Given the description of an element on the screen output the (x, y) to click on. 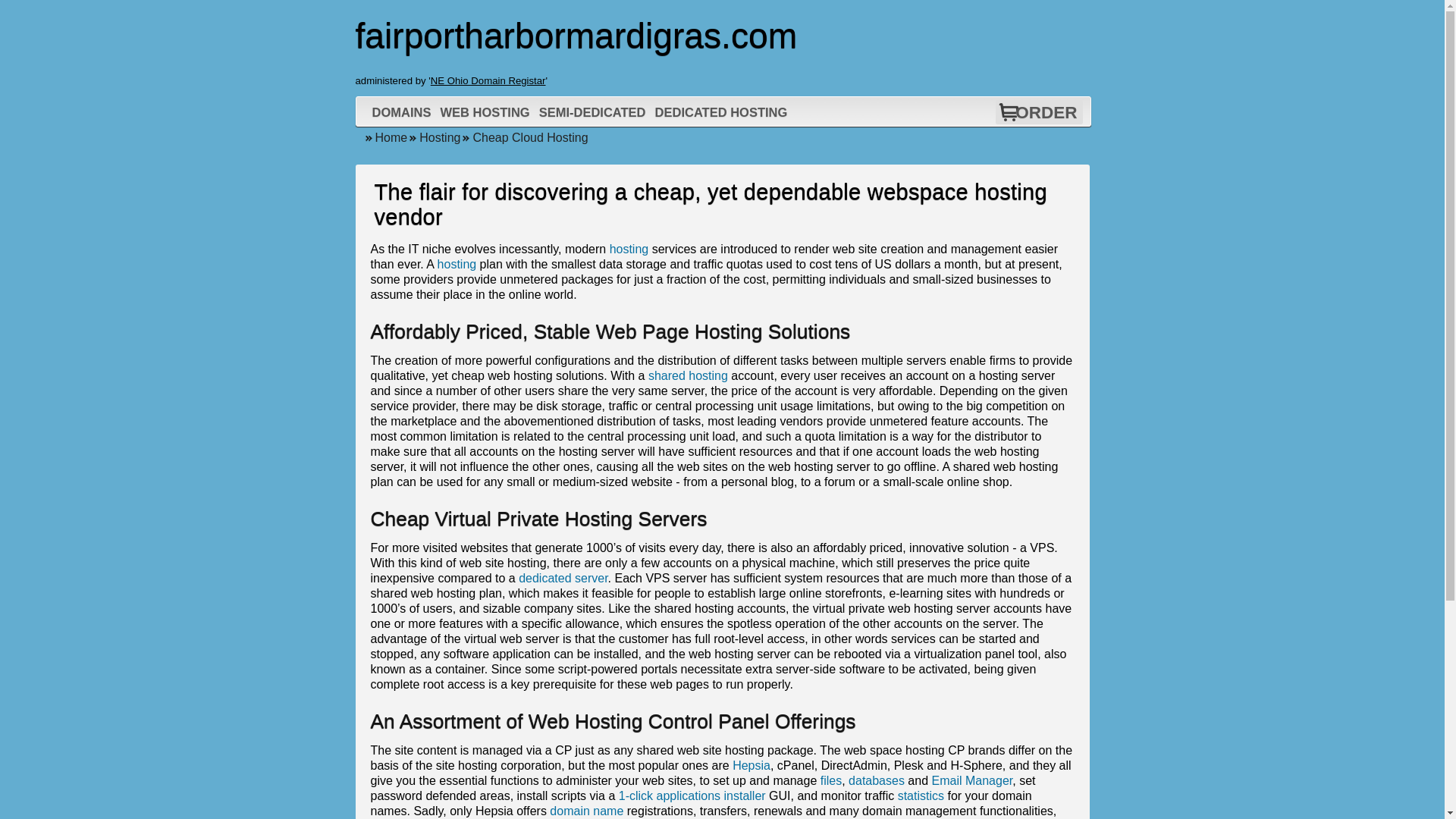
Home (384, 137)
DEDICATED HOSTING (721, 112)
statistics (920, 795)
hosting (457, 264)
ORDER (1045, 112)
Hepsia (751, 765)
SEMI-DEDICATED (592, 112)
hosting (629, 248)
NE Ohio Domain Registar (488, 80)
domain name (586, 810)
databases (876, 780)
shared hosting (687, 375)
Email Manager (972, 780)
Hosting (433, 137)
DOMAINS (401, 112)
